Given the description of an element on the screen output the (x, y) to click on. 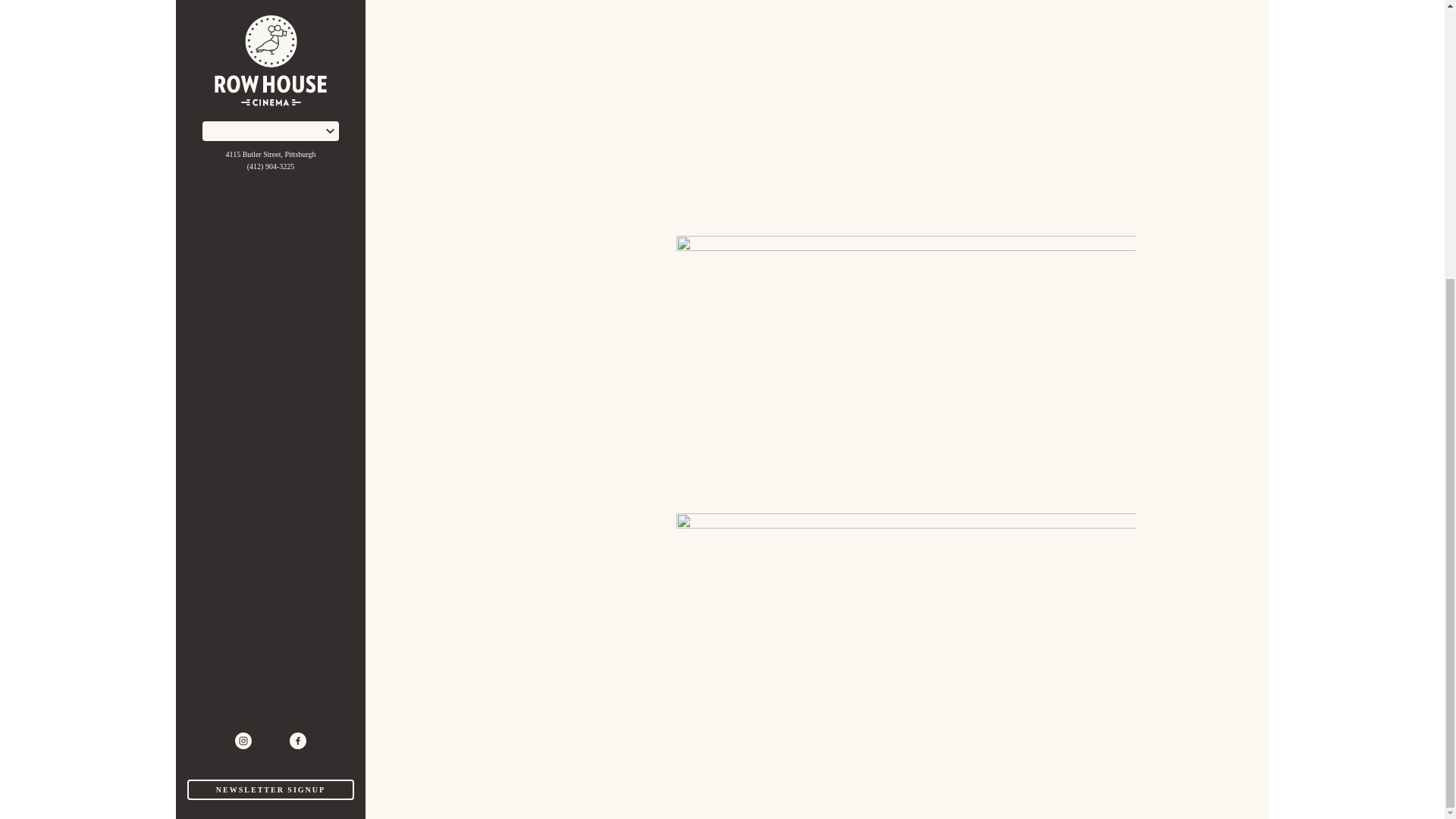
instagram (242, 325)
facebook (297, 325)
NEWSLETTER SIGNUP (270, 374)
twitter (270, 325)
